Given the description of an element on the screen output the (x, y) to click on. 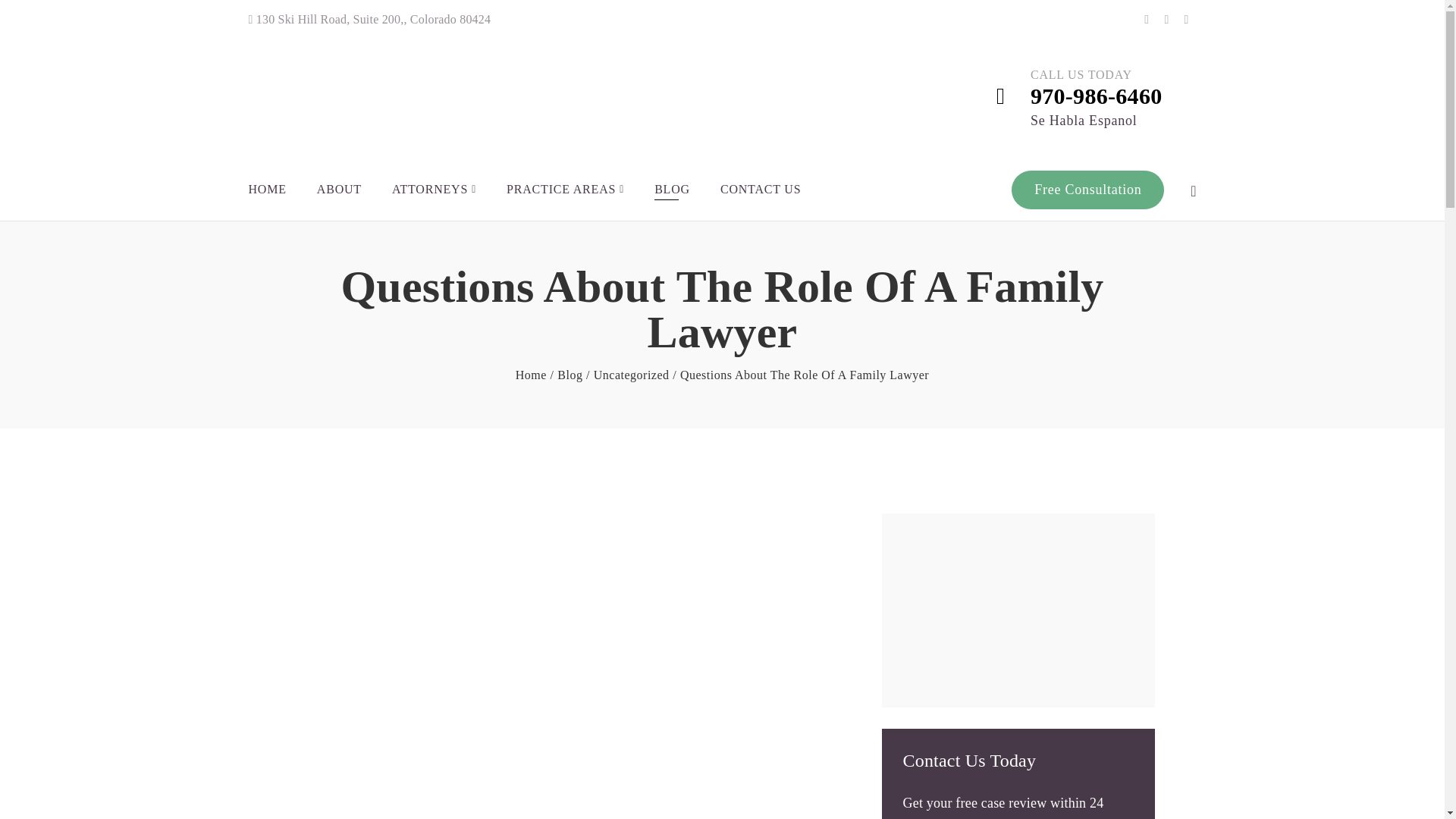
Blog (569, 374)
HOME (267, 189)
CONTACT US (760, 189)
ABOUT (339, 189)
Home (531, 374)
Uncategorized (631, 374)
PRACTICE AREAS (565, 189)
Free Consultation (1087, 189)
BLOG (671, 189)
